Given the description of an element on the screen output the (x, y) to click on. 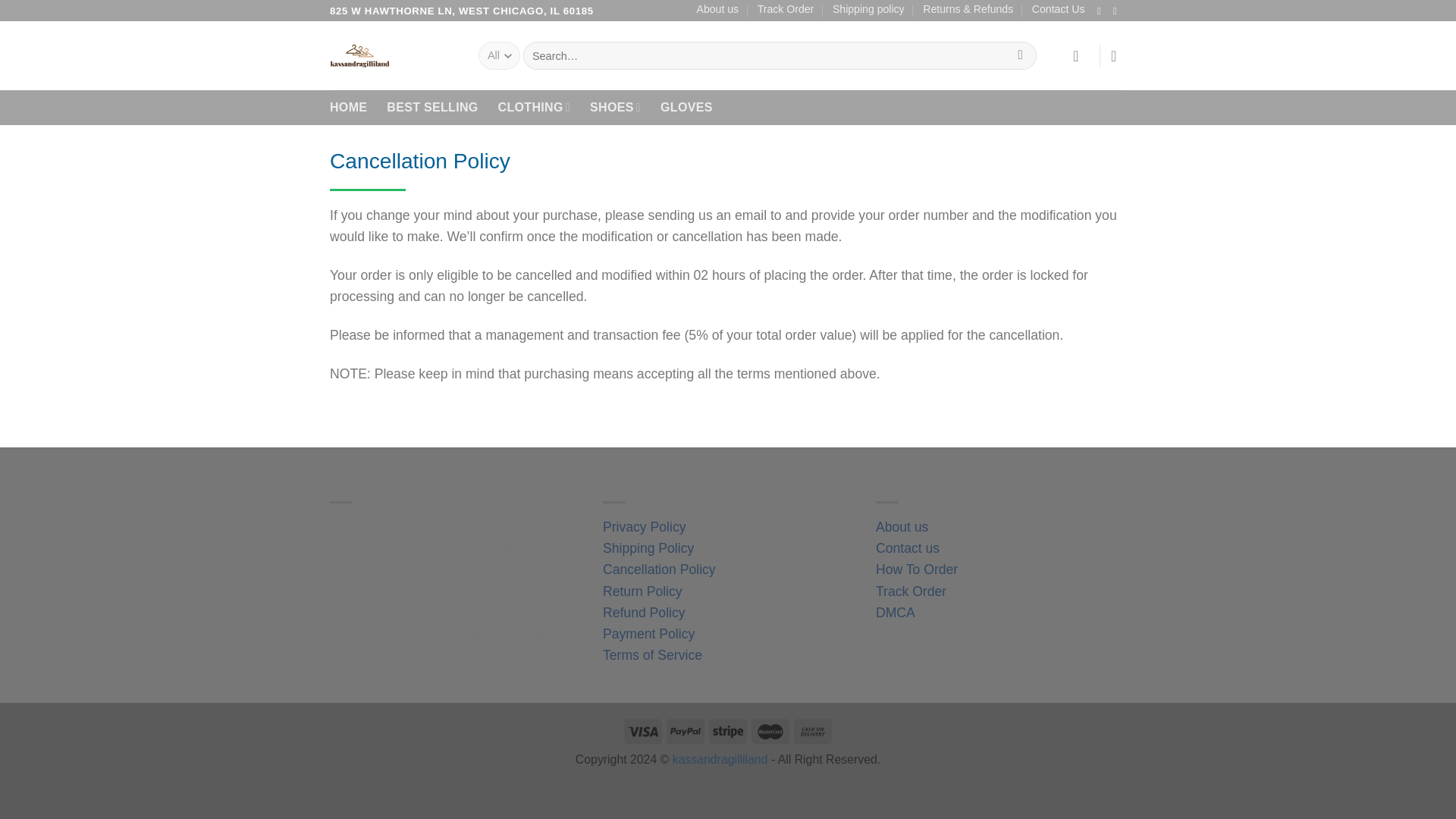
Contact us (907, 548)
About us (902, 526)
Terms of Service (651, 654)
CLOTHING (533, 107)
HOME (348, 107)
About us (718, 9)
Refund Policy (643, 612)
Kassandragilliland - Trending (392, 55)
Return Policy (642, 590)
Search (1020, 55)
Contact Us (1058, 9)
Track Order (911, 590)
Privacy Policy (643, 526)
BEST SELLING (432, 107)
